Given the description of an element on the screen output the (x, y) to click on. 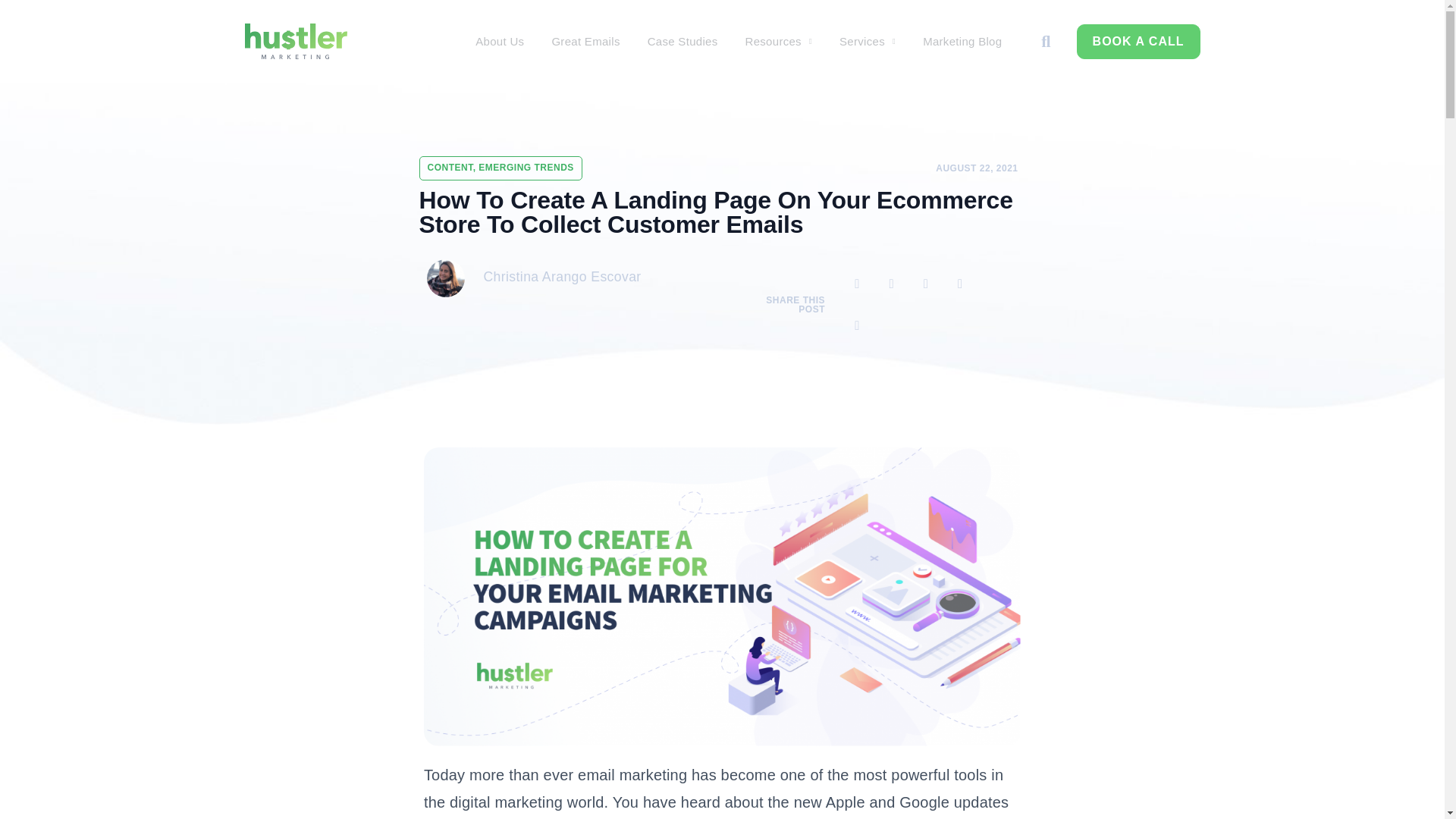
Case Studies (682, 41)
About Us (499, 41)
BOOK A CALL (1138, 41)
Resources (779, 41)
Marketing Blog (961, 41)
Great Emails (585, 41)
Services (866, 41)
